Given the description of an element on the screen output the (x, y) to click on. 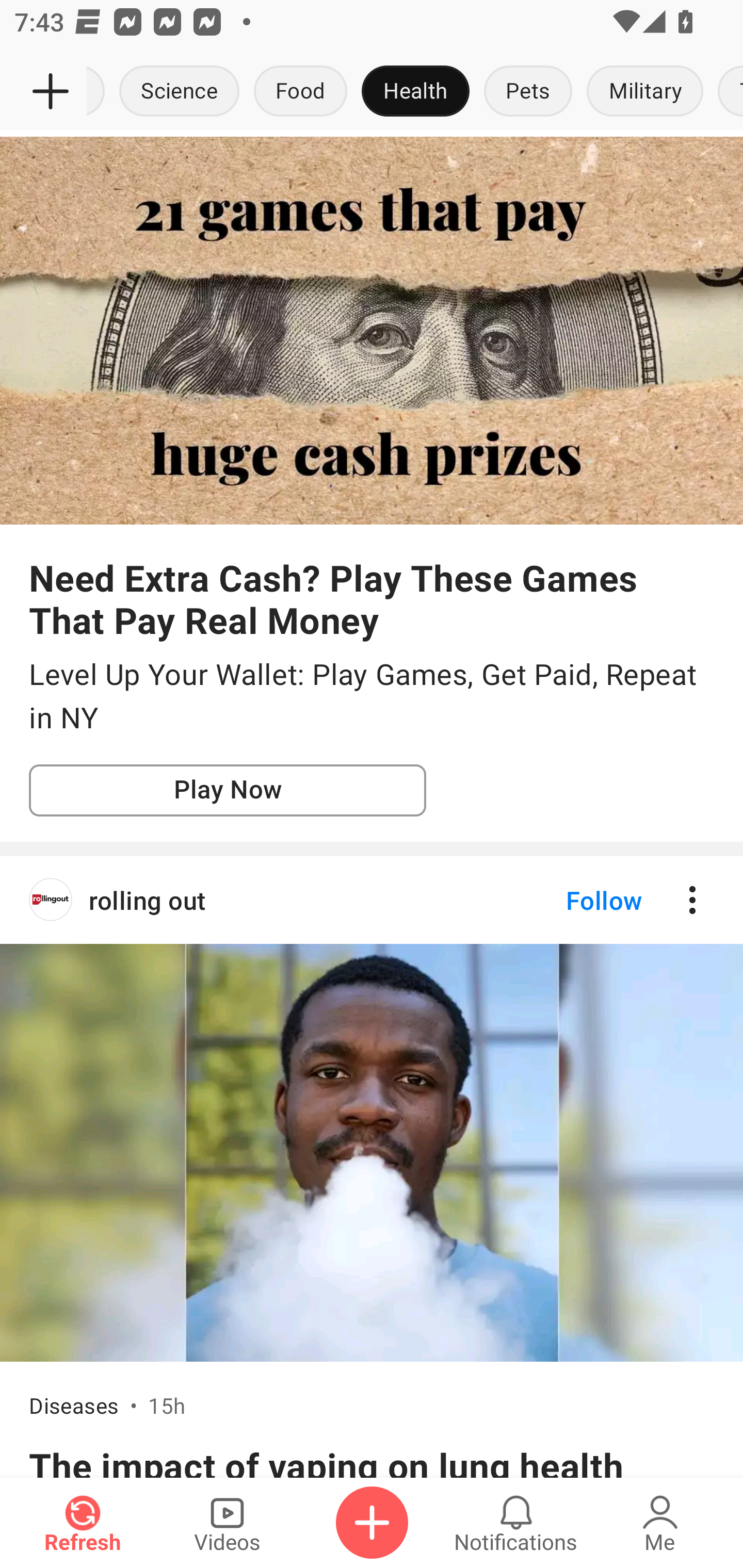
Science (179, 91)
Food (300, 91)
Health (415, 91)
Pets (528, 91)
Military (644, 91)
Play Now (227, 790)
rolling out Follow (371, 899)
Follow (569, 899)
Videos (227, 1522)
Notifications (516, 1522)
Me (659, 1522)
